Given the description of an element on the screen output the (x, y) to click on. 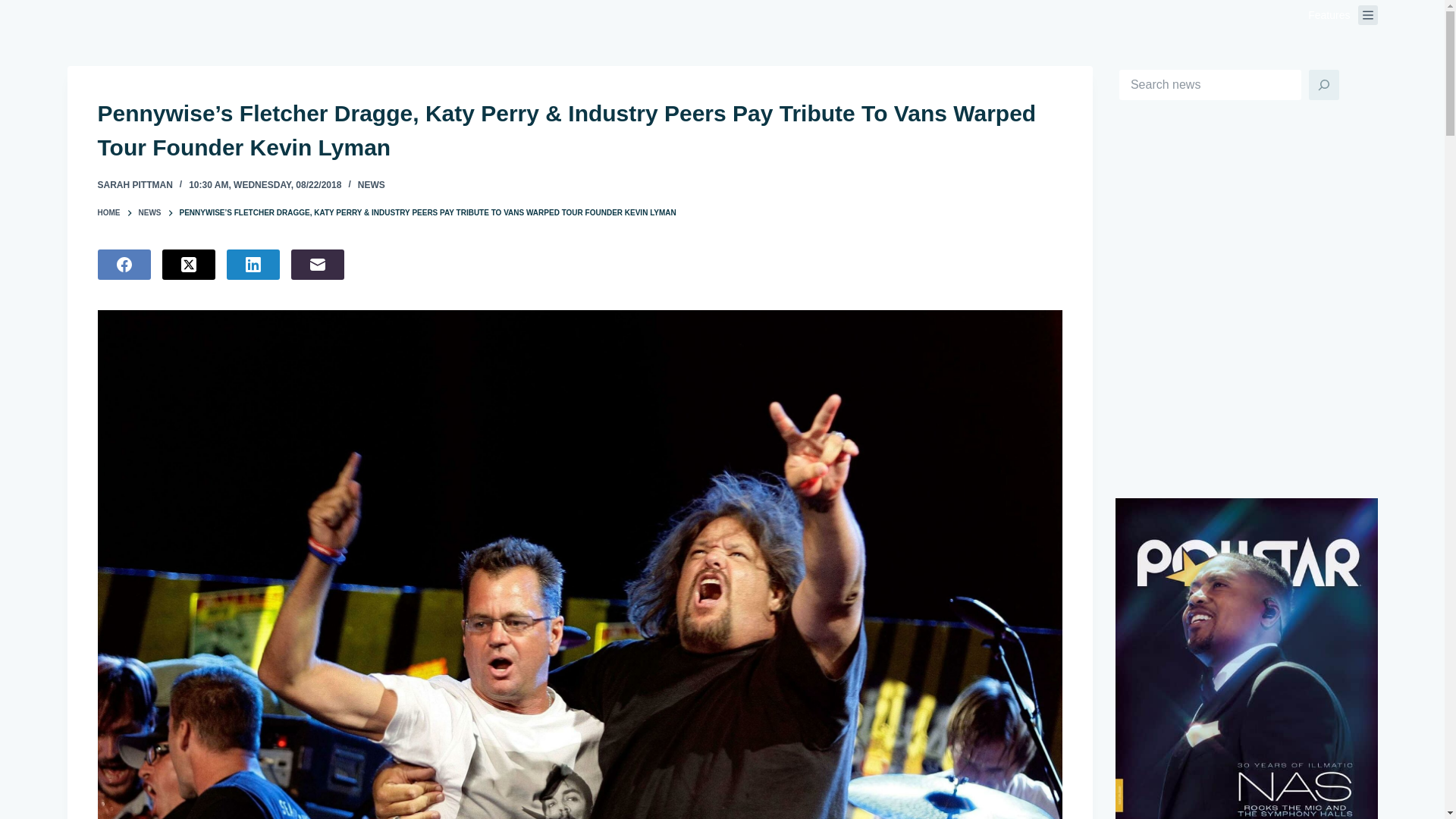
Posts by Sarah Pittman (134, 184)
Skip to content (15, 7)
